Given the description of an element on the screen output the (x, y) to click on. 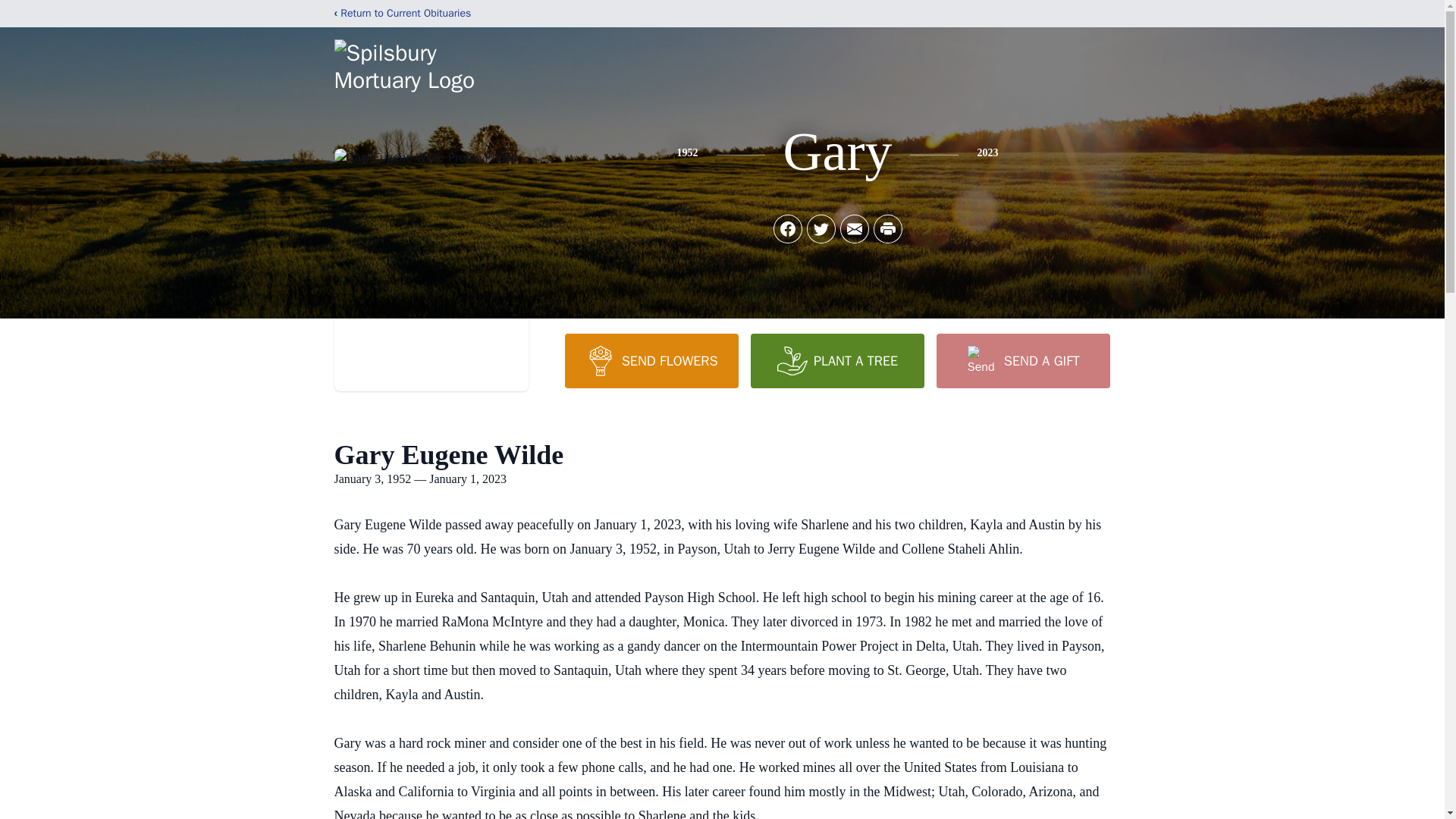
SEND FLOWERS (651, 360)
PLANT A TREE (837, 360)
SEND A GIFT (1022, 360)
